Given the description of an element on the screen output the (x, y) to click on. 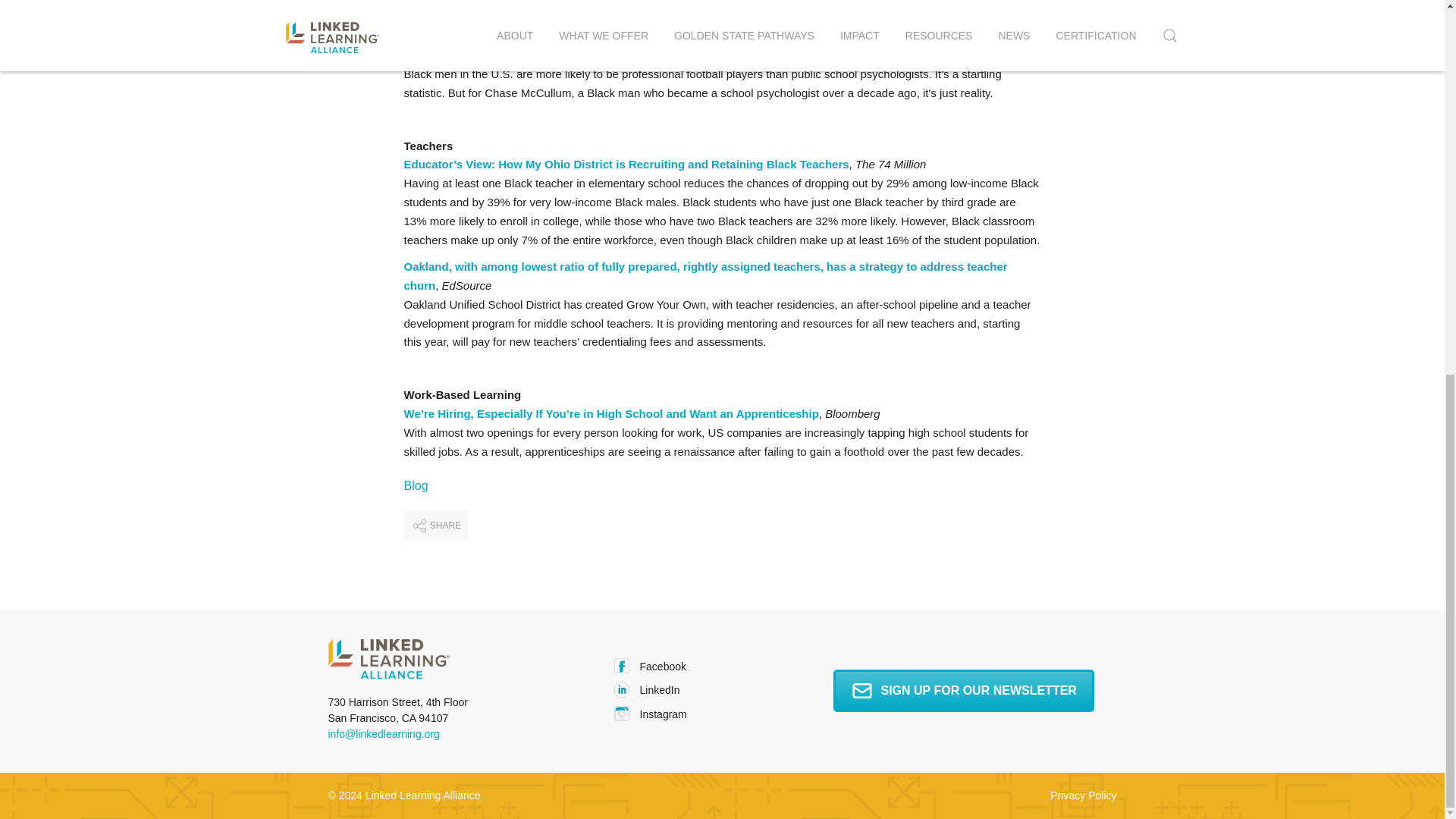
SHARE (435, 525)
Blog (415, 485)
